Given the description of an element on the screen output the (x, y) to click on. 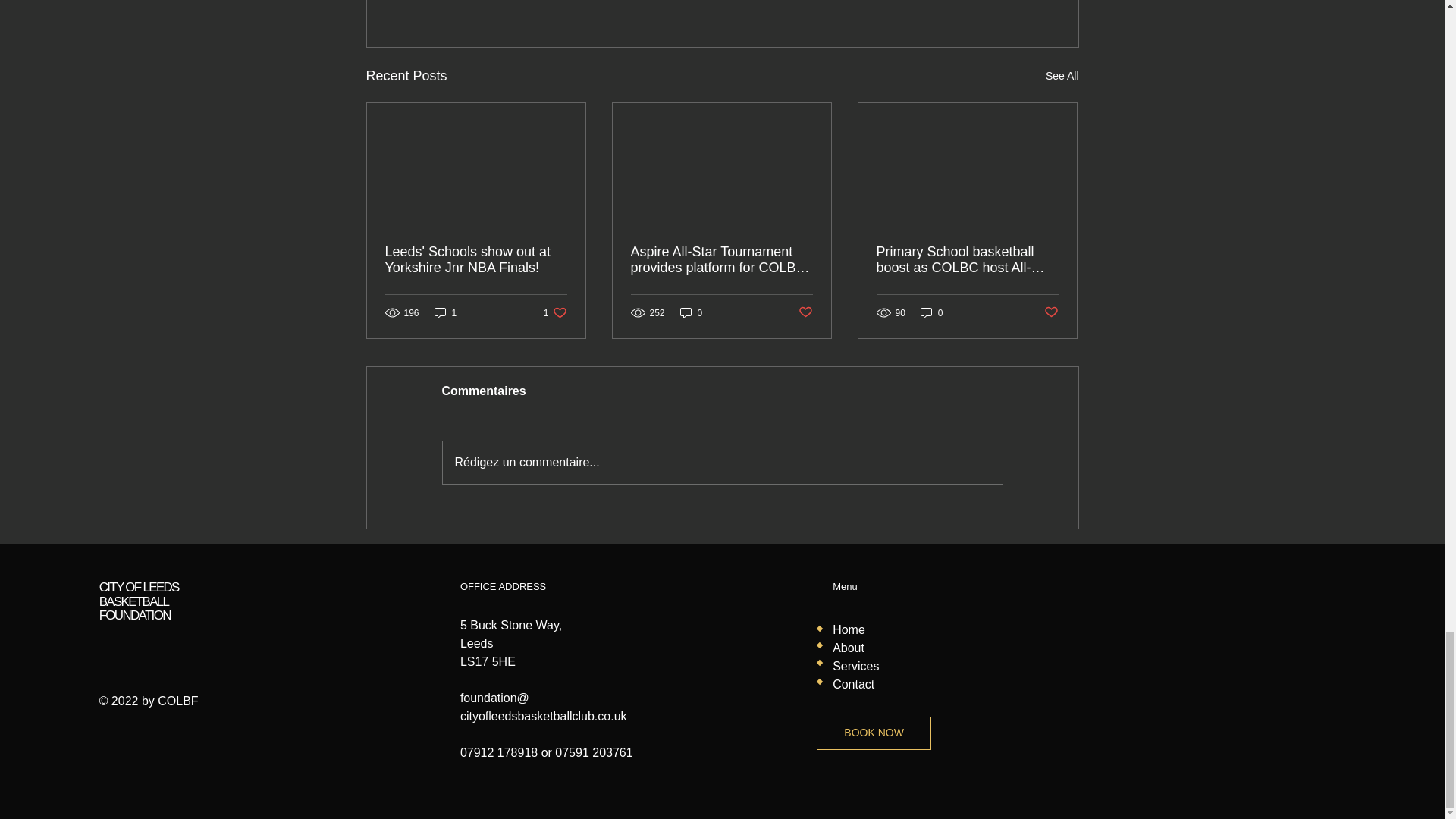
Post not marked as liked (445, 312)
0 (804, 312)
Leeds' Schools show out at Yorkshire Jnr NBA Finals! (555, 312)
See All (931, 312)
0 (476, 260)
Post not marked as liked (1061, 75)
